Given the description of an element on the screen output the (x, y) to click on. 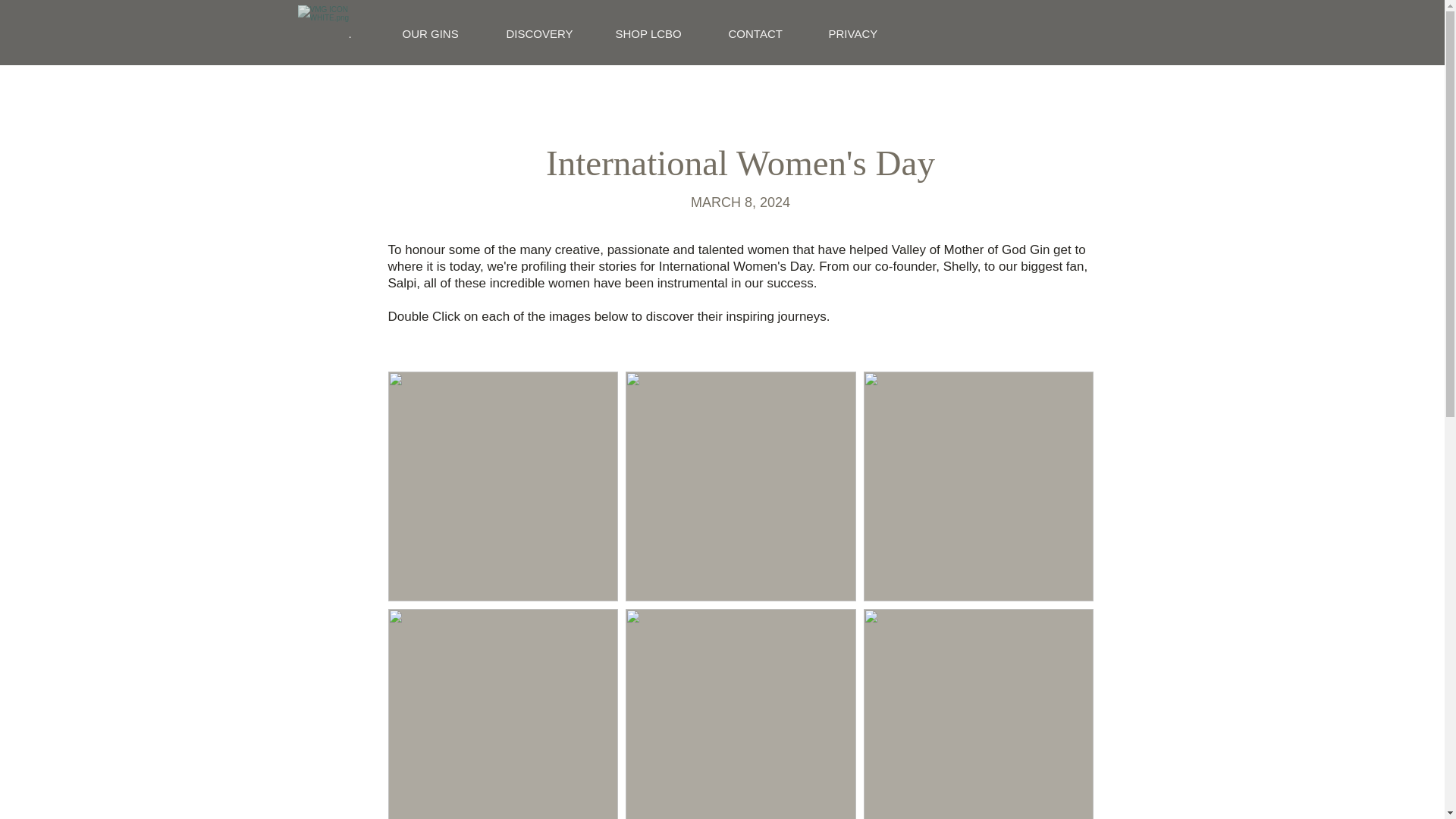
DISCOVERY (549, 33)
OUR GINS (443, 33)
SHOP LCBO (660, 33)
. (363, 33)
CONTACT (766, 33)
PRIVACY (863, 33)
